Given the description of an element on the screen output the (x, y) to click on. 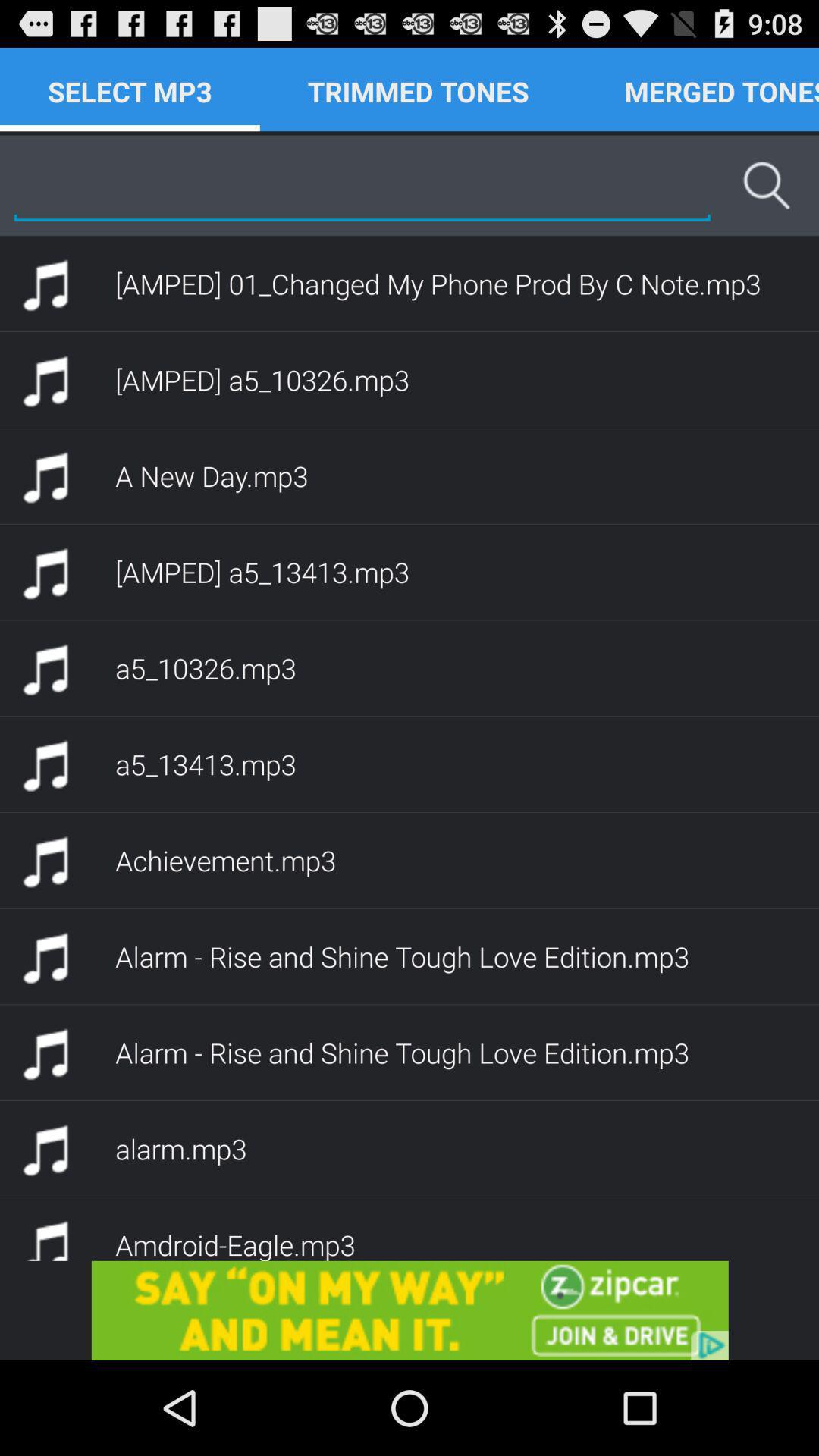
enter text into the search bar (362, 185)
